Given the description of an element on the screen output the (x, y) to click on. 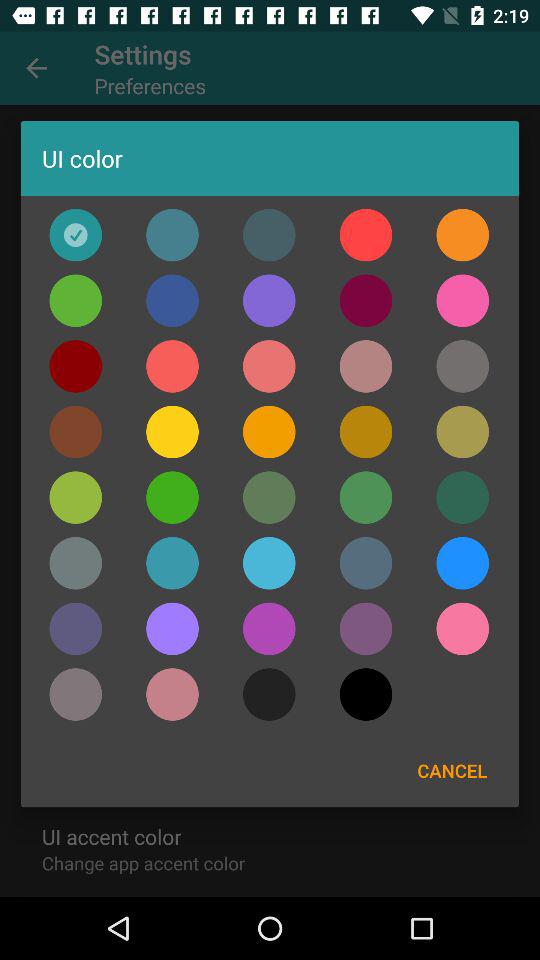
select the color (172, 563)
